Given the description of an element on the screen output the (x, y) to click on. 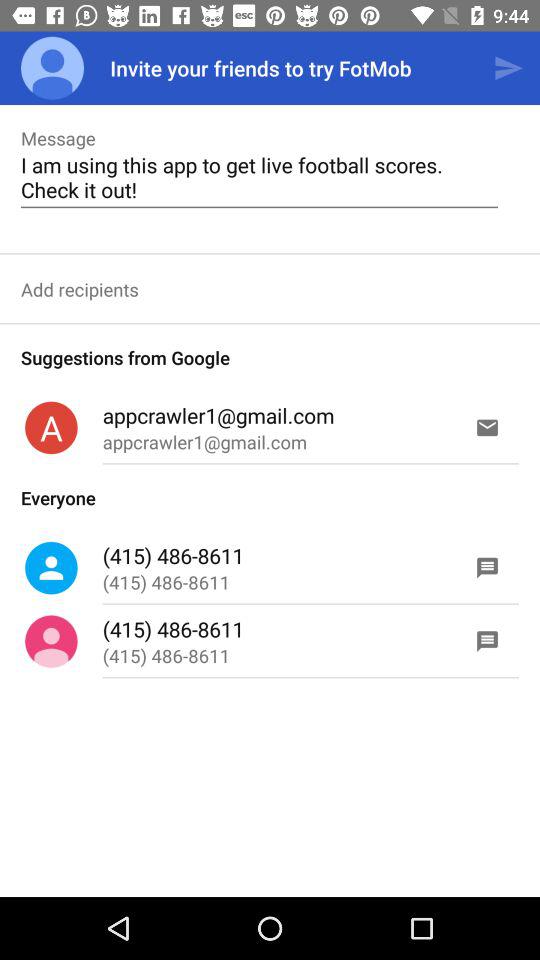
click icon to the left of invite your friends icon (52, 68)
